Given the description of an element on the screen output the (x, y) to click on. 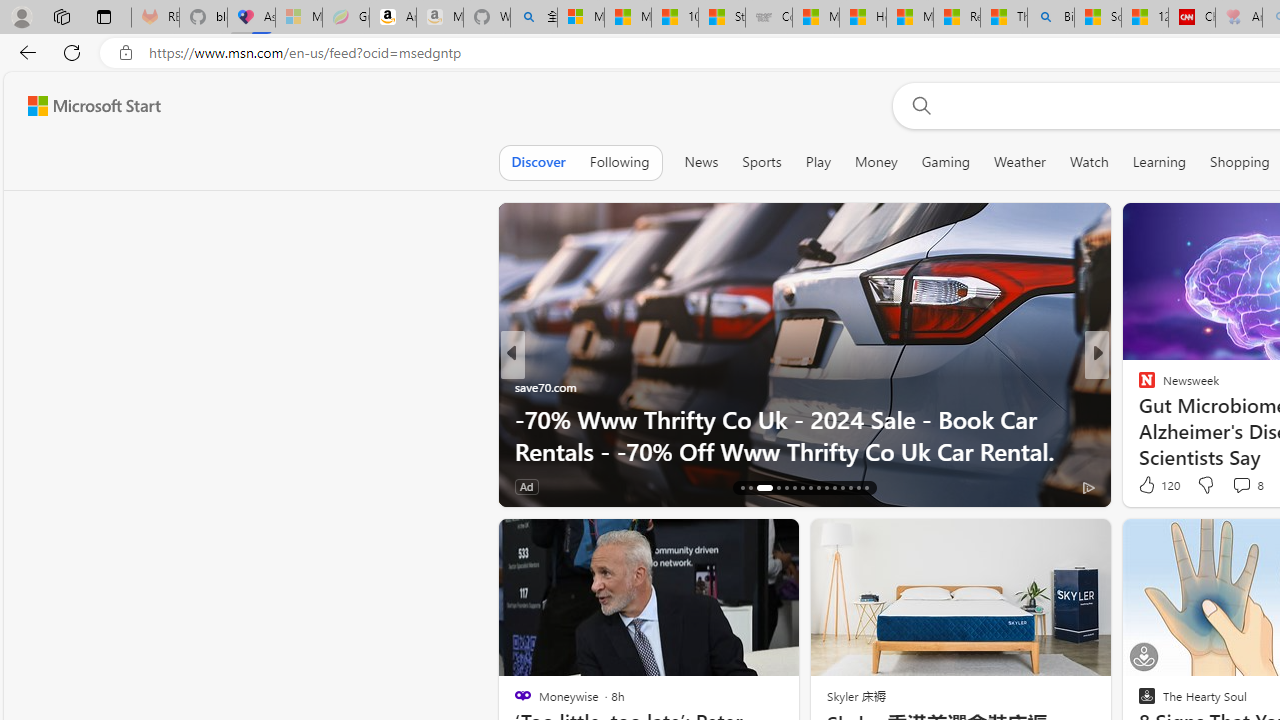
EatingWell (1138, 386)
249 Like (1151, 486)
How I Got Rid of Microsoft Edge's Unnecessary Features (862, 17)
A Conscious Rethink (1138, 386)
Bing (1050, 17)
View comments 74 Comment (1234, 485)
